Given the description of an element on the screen output the (x, y) to click on. 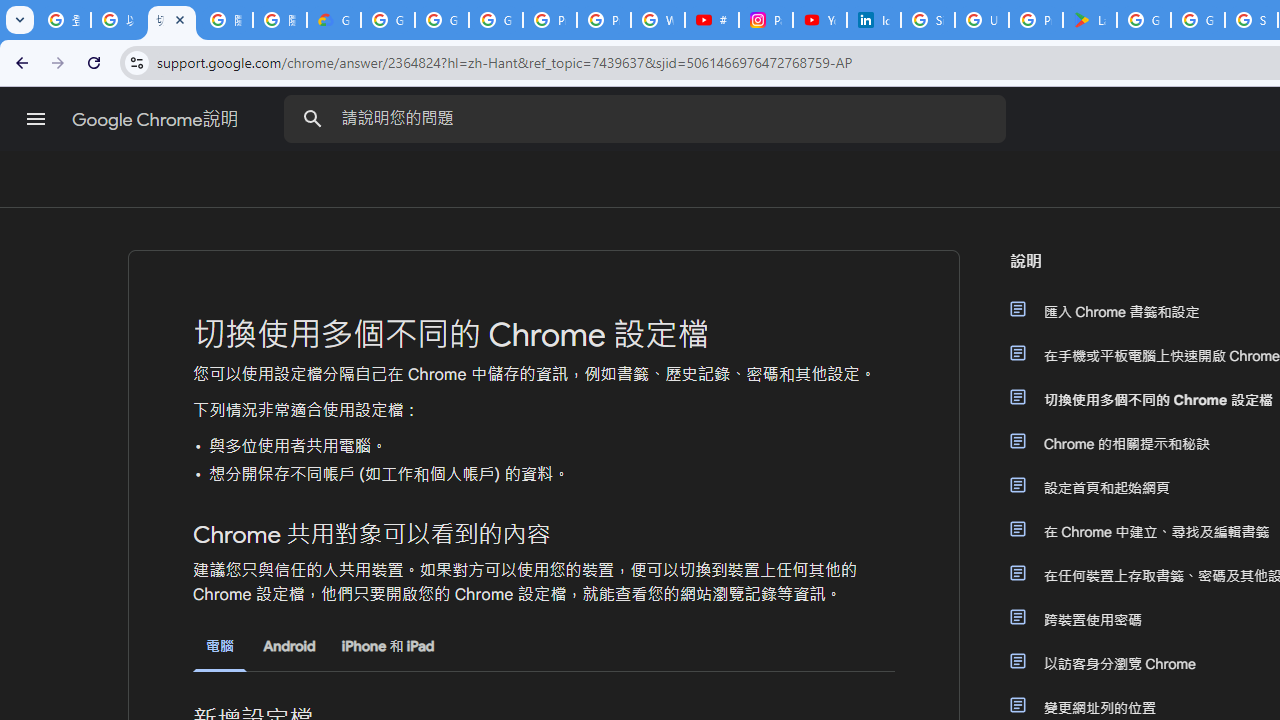
Privacy Help Center - Policies Help (604, 20)
YouTube Culture & Trends - On The Rise: Handcam Videos (819, 20)
